Given the description of an element on the screen output the (x, y) to click on. 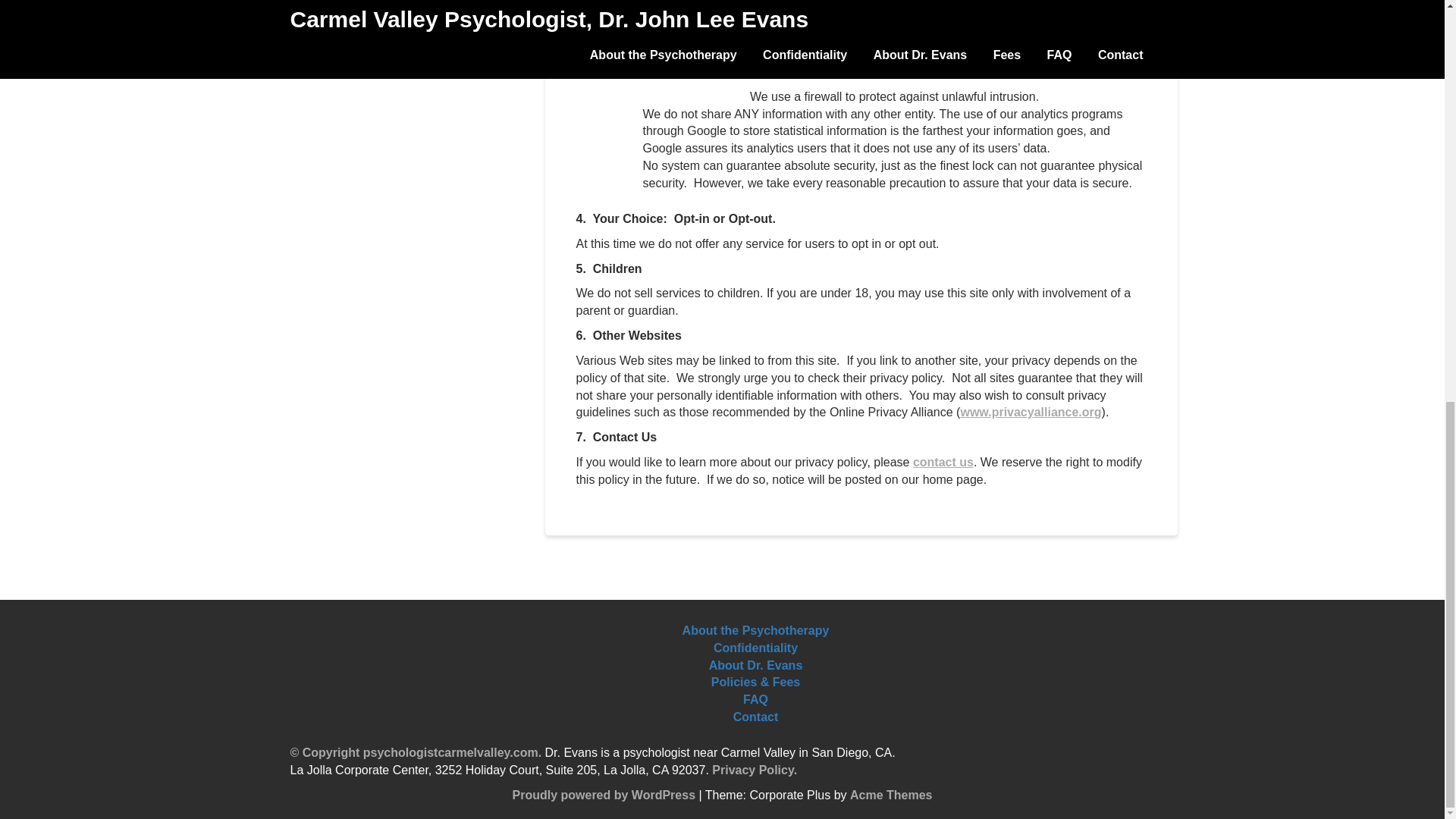
contact us (943, 461)
Acme Themes (891, 794)
Confidentiality (755, 648)
Privacy Policy. (753, 769)
Proudly powered by WordPress (603, 794)
Contact (755, 717)
About Dr. Evans (756, 665)
FAQ (755, 700)
About the Psychotherapy (755, 630)
www.privacyalliance.org (1029, 411)
